Given the description of an element on the screen output the (x, y) to click on. 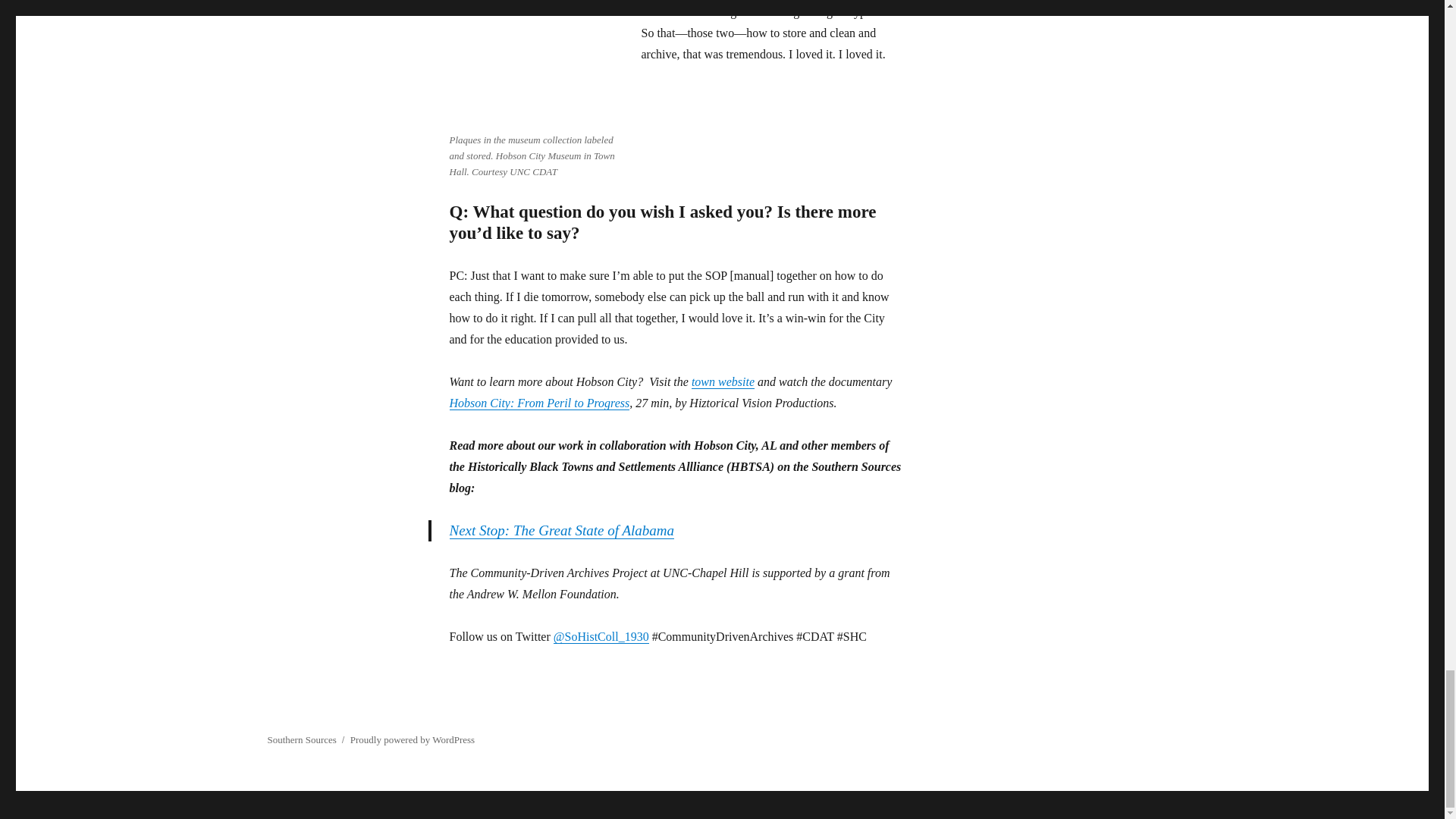
Hobson City: From Peril to Progress (538, 402)
town website (722, 381)
Next Stop: The Great State of Alabama (562, 530)
Proudly powered by WordPress (412, 739)
Southern Sources (301, 739)
